Given the description of an element on the screen output the (x, y) to click on. 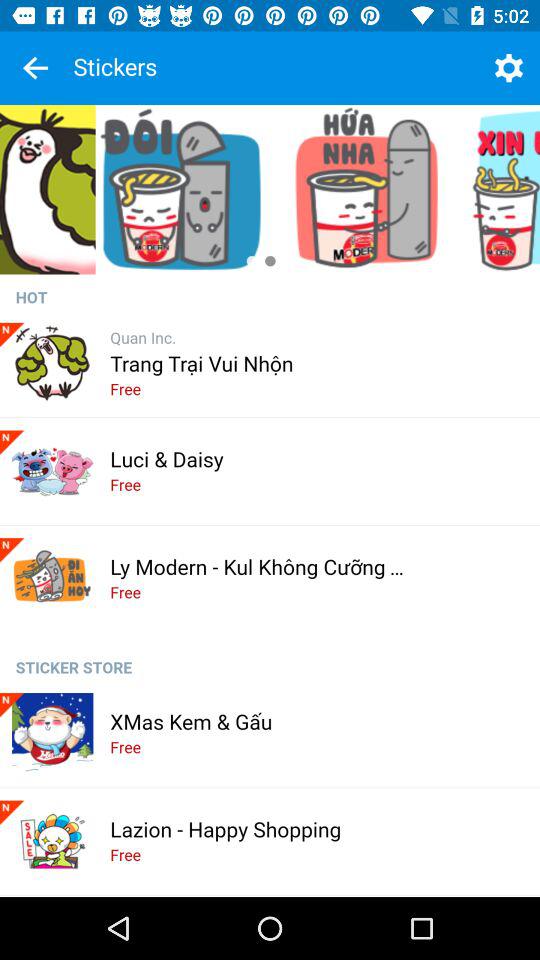
settings indicator (508, 68)
